Given the description of an element on the screen output the (x, y) to click on. 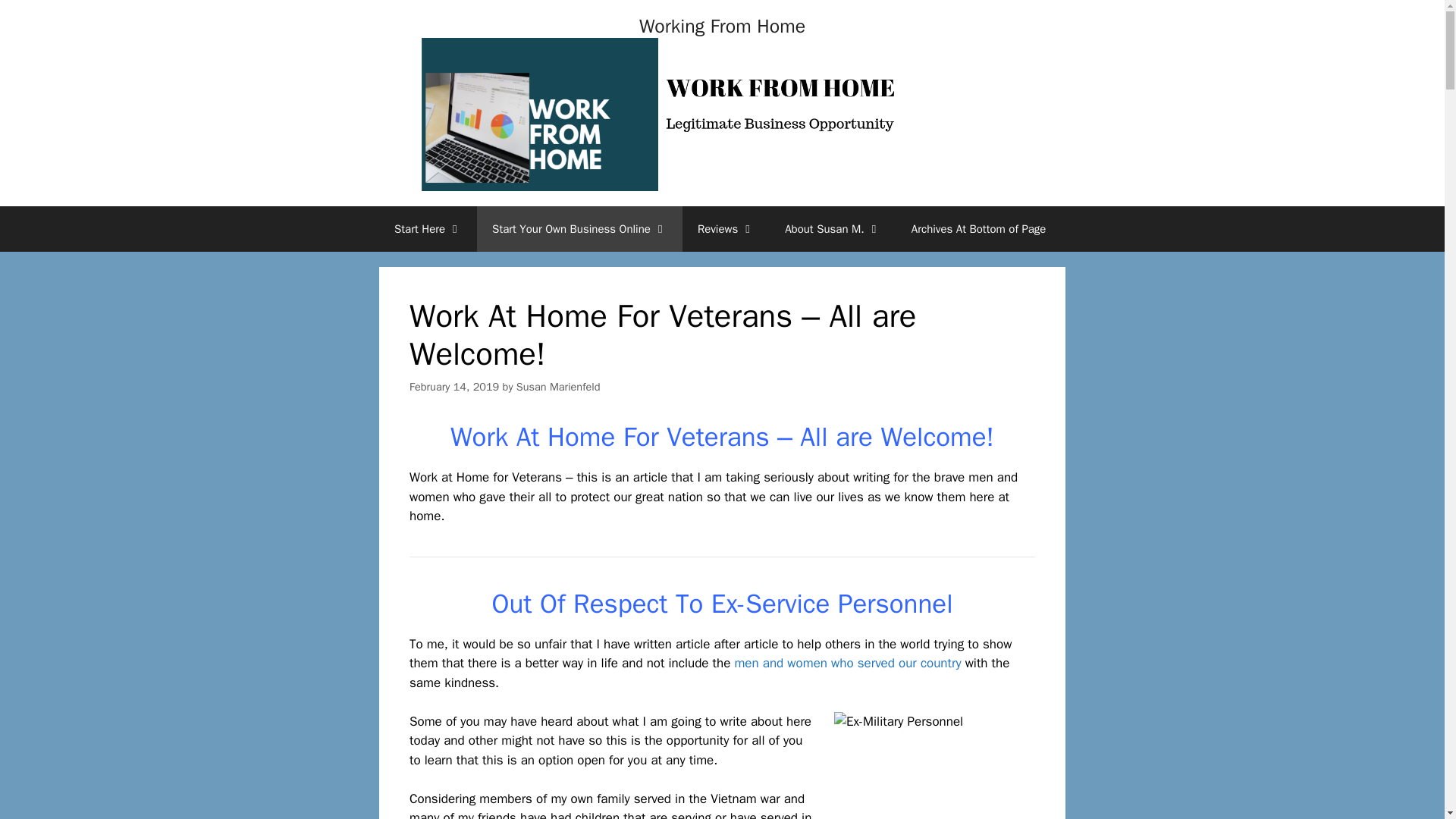
Working From Home (722, 25)
Start Your Own Business Online (579, 228)
Start Here (427, 228)
View all posts by Susan Marienfeld (557, 386)
